Given the description of an element on the screen output the (x, y) to click on. 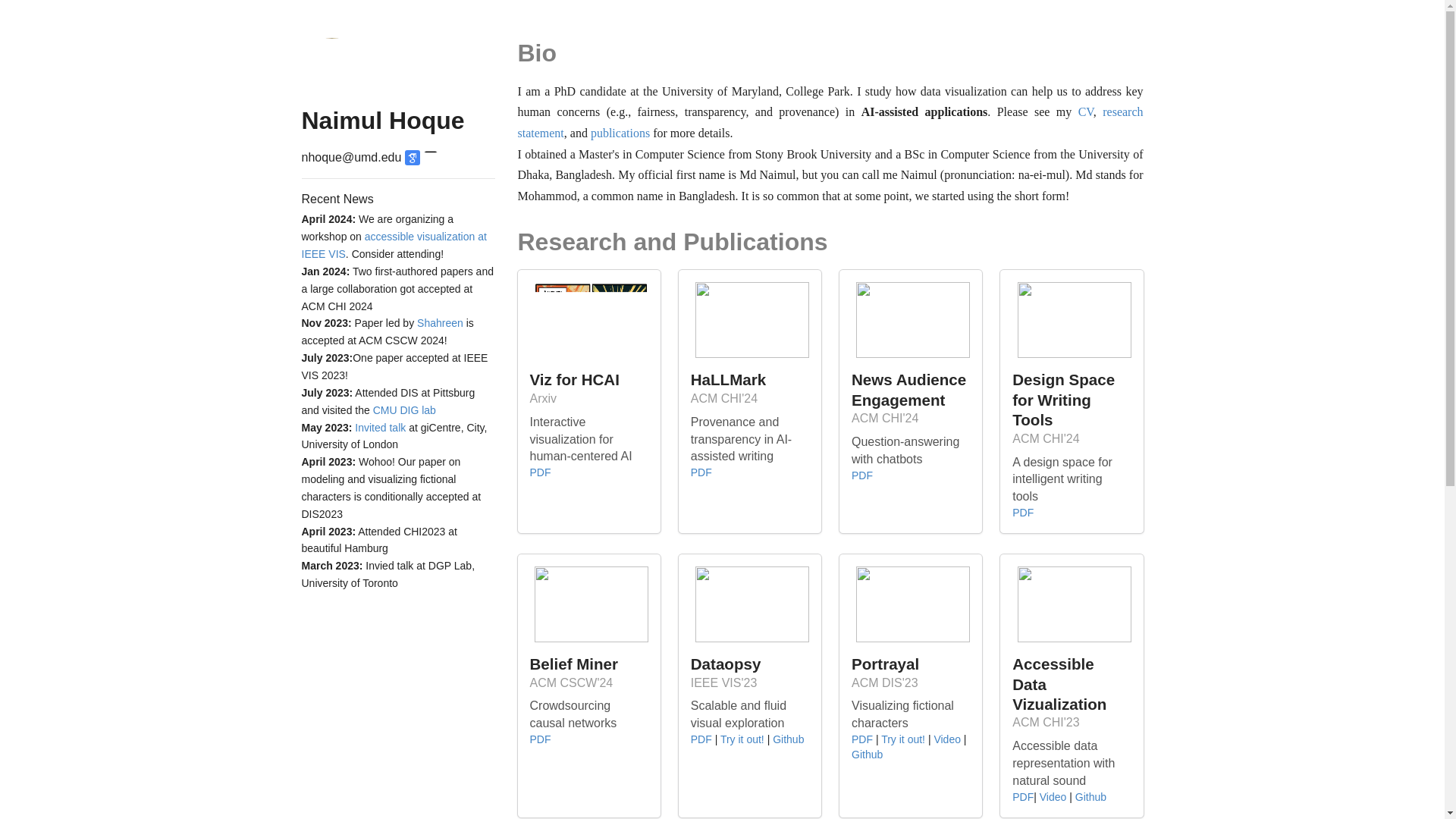
Github (866, 754)
Github (788, 739)
publications (620, 132)
PDF (861, 739)
PDF (539, 739)
accessible visualization at IEEE VIS (393, 245)
PDF (861, 475)
PDF (539, 472)
Video (1053, 797)
Github (1090, 797)
